Given the description of an element on the screen output the (x, y) to click on. 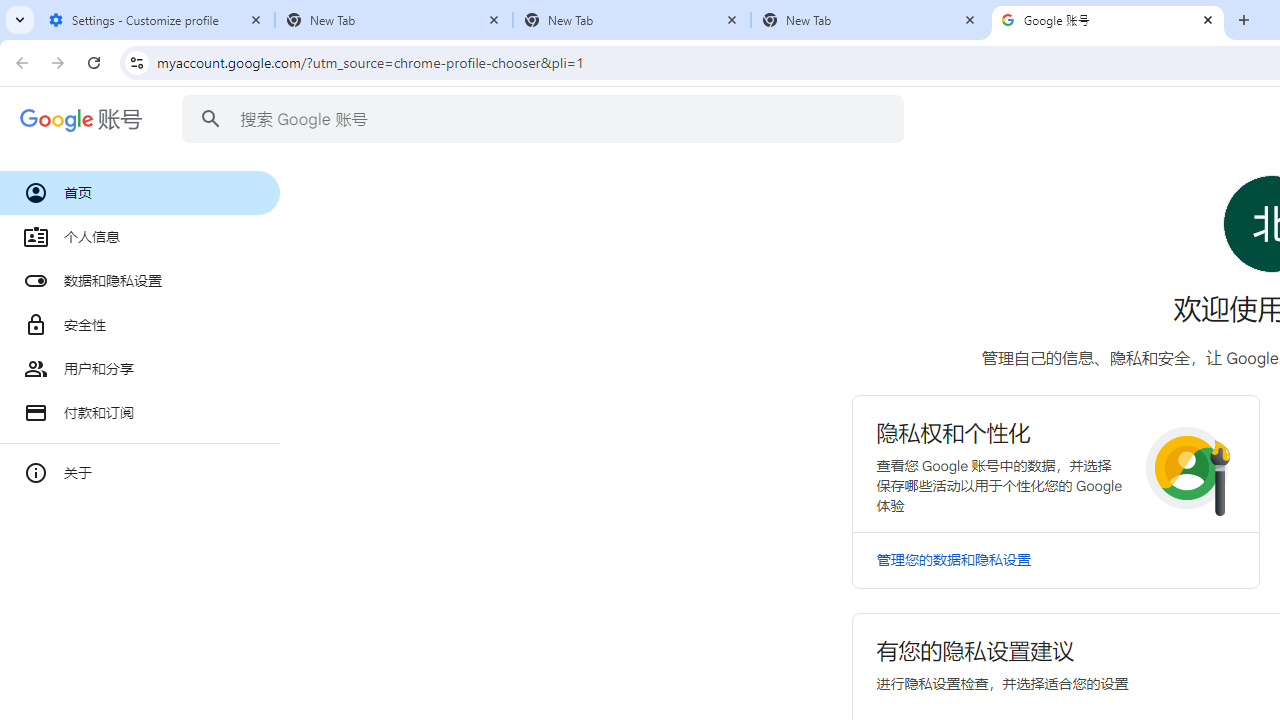
Settings - Customize profile (156, 20)
System (10, 11)
Reload (93, 62)
Search tabs (20, 20)
New Tab (632, 20)
New Tab (394, 20)
New Tab (870, 20)
Back (19, 62)
